Given the description of an element on the screen output the (x, y) to click on. 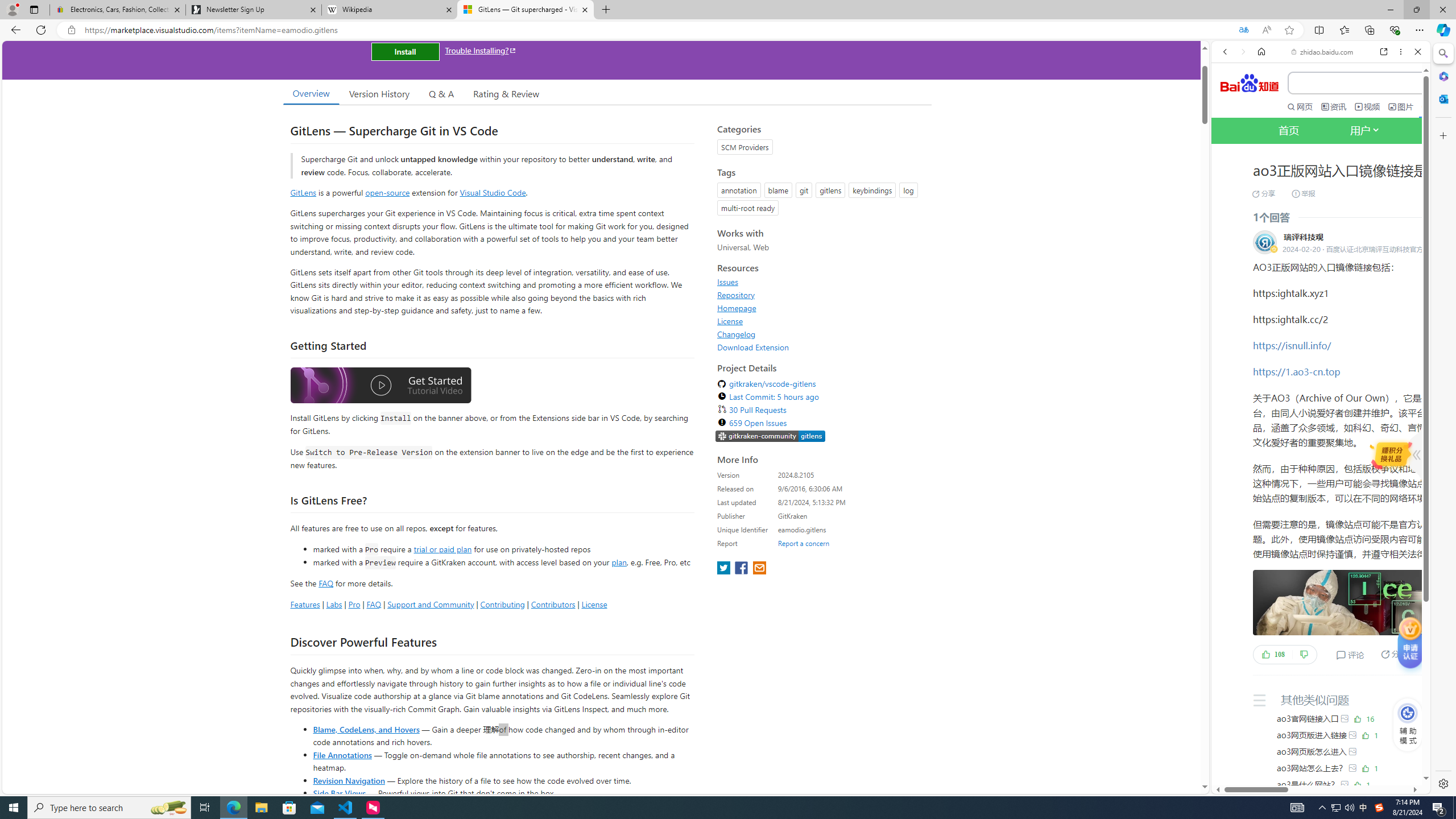
Wikipedia (390, 9)
Actions for this site (1381, 514)
share extension on email (759, 568)
open-source (387, 192)
Home (1261, 51)
Global web icon (1232, 743)
https://1.ao3-cn.top (1296, 371)
Rating & Review (505, 92)
